Given the description of an element on the screen output the (x, y) to click on. 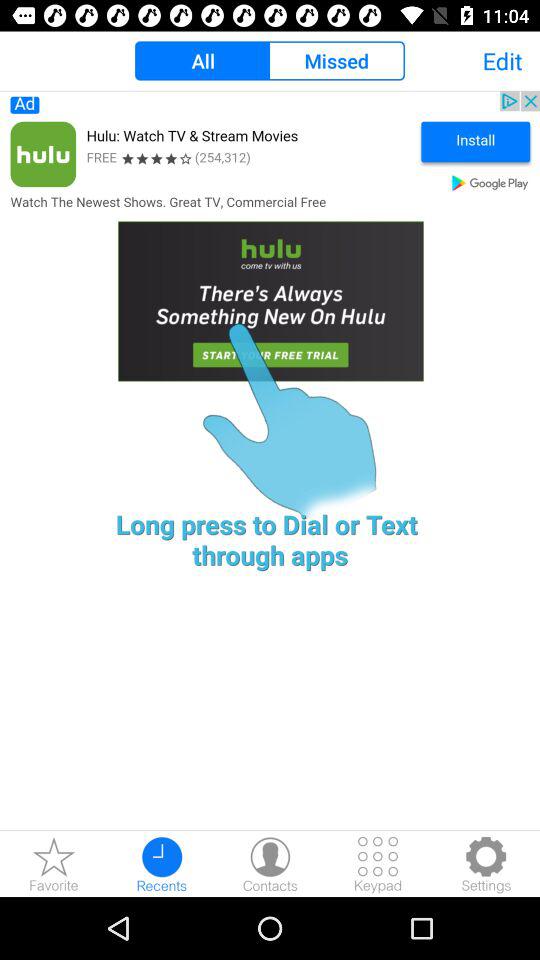
internet history (161, 864)
